Given the description of an element on the screen output the (x, y) to click on. 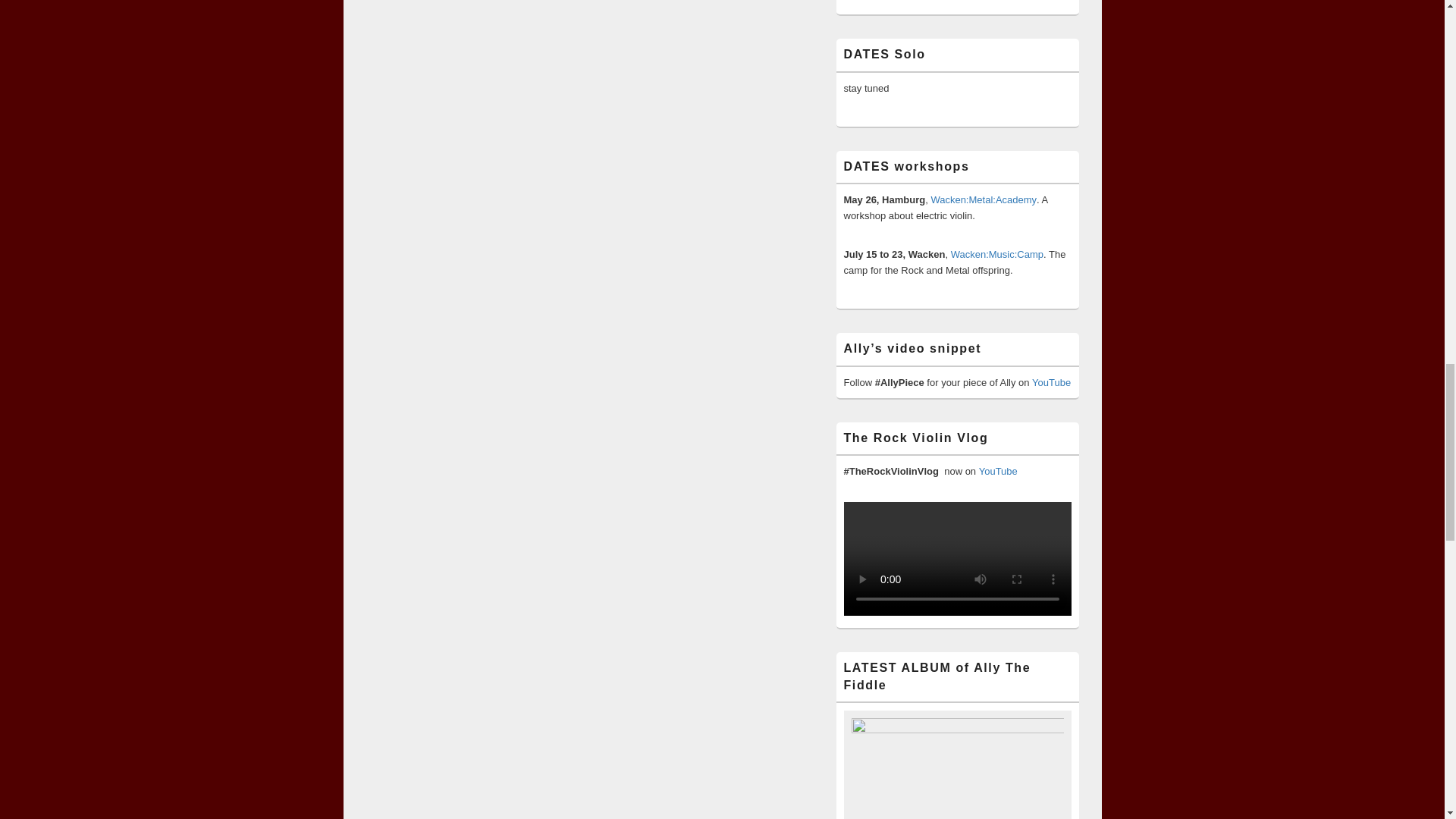
Wacken:Music:Camp (996, 254)
YouTube (1051, 382)
YouTube (997, 471)
YouTube (1051, 382)
YouTube (997, 471)
Wacken:Metal:Academy (983, 199)
